Given the description of an element on the screen output the (x, y) to click on. 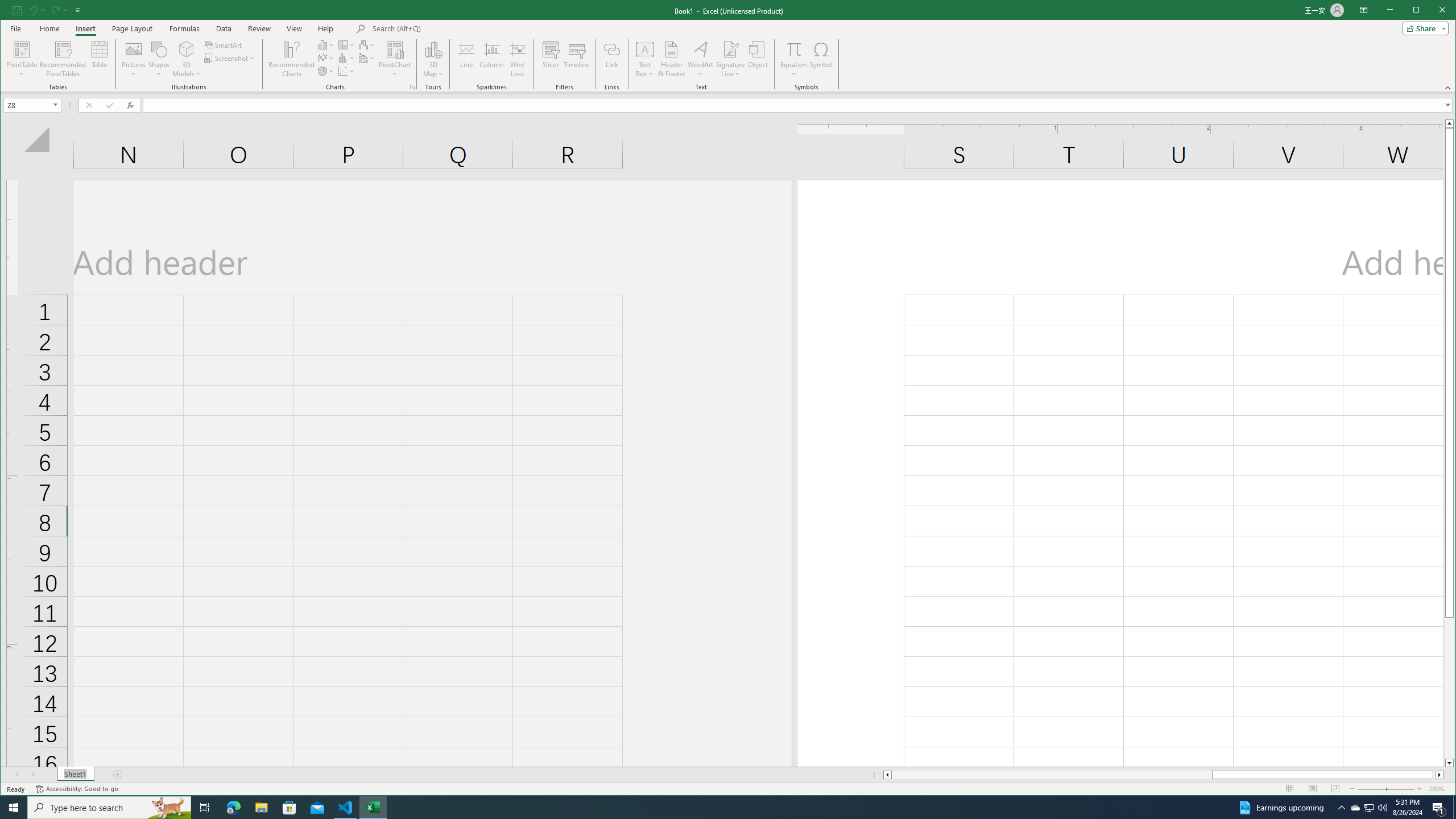
Link (611, 59)
Show desktop (1454, 807)
Screenshot (229, 57)
PivotTable (22, 59)
Maximize (1432, 11)
Column (492, 59)
3D Map (432, 48)
Draw Horizontal Text Box (644, 48)
Excel - 1 running window (373, 807)
Signature Line (729, 59)
